Given the description of an element on the screen output the (x, y) to click on. 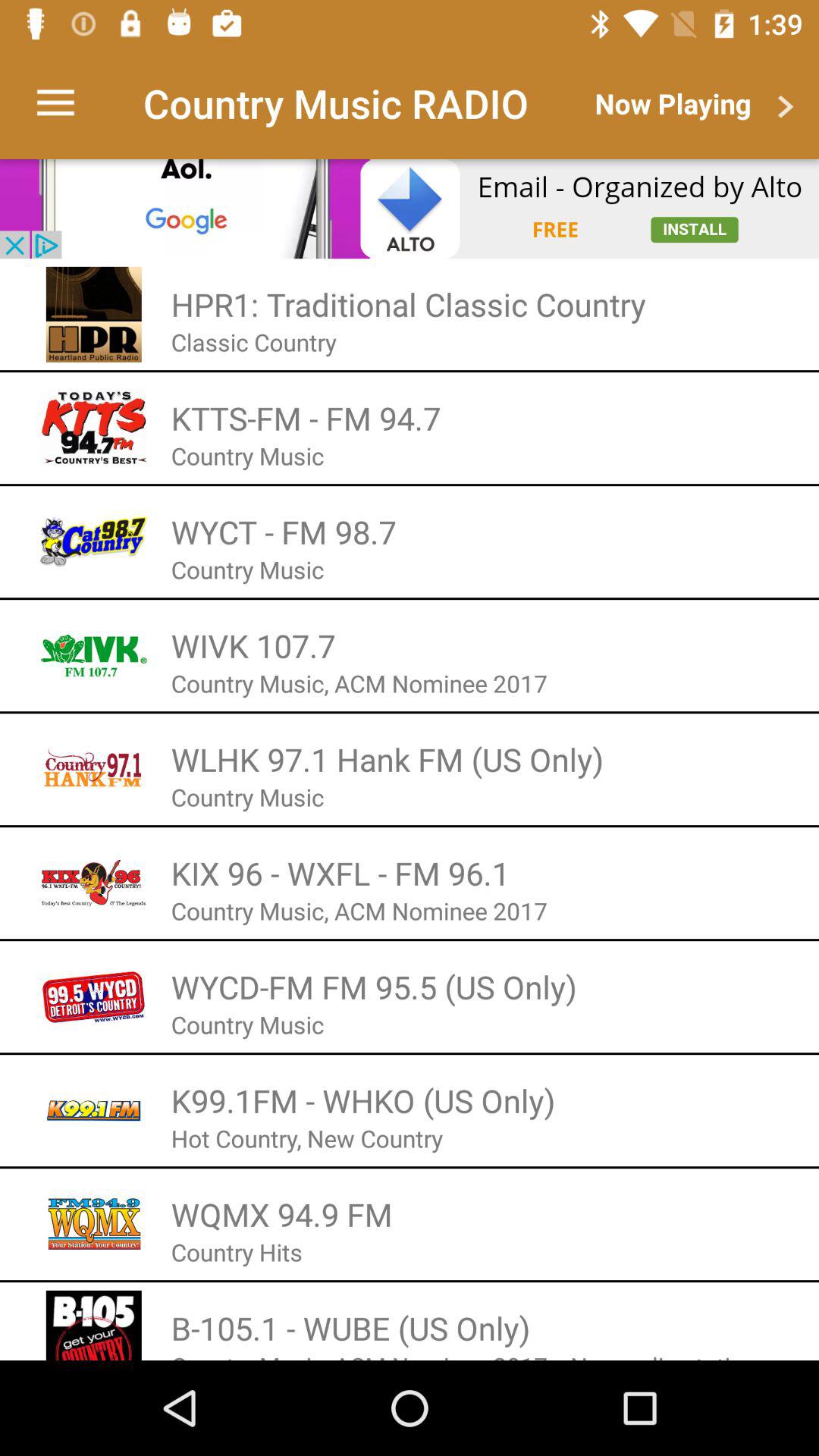
open advertisement (409, 208)
